Given the description of an element on the screen output the (x, y) to click on. 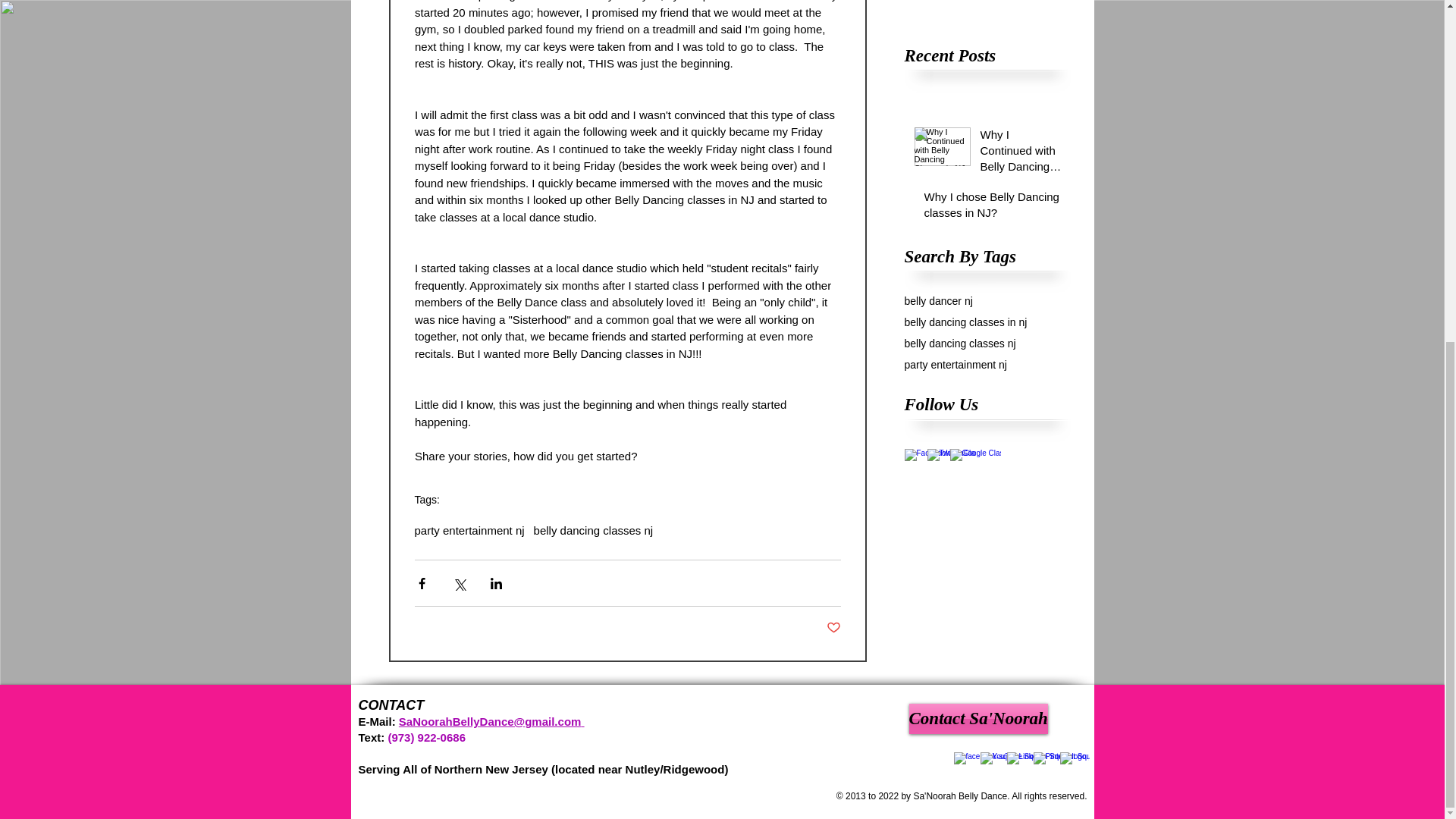
Why I Continued with Belly Dancing Classes in NJ (987, 9)
Why I Continued with Belly Dancing Classes in NJ (987, 9)
Post not marked as liked (834, 627)
Why I chose Belly Dancing classes in NJ? (992, 207)
E-Mail: (376, 721)
belly dancing classes nj (593, 530)
Why I Continued with Belly Dancing Classes in NJ (1020, 153)
belly dancing classes nj (959, 343)
party entertainment nj (955, 364)
belly dancing classes in nj (965, 322)
